Given the description of an element on the screen output the (x, y) to click on. 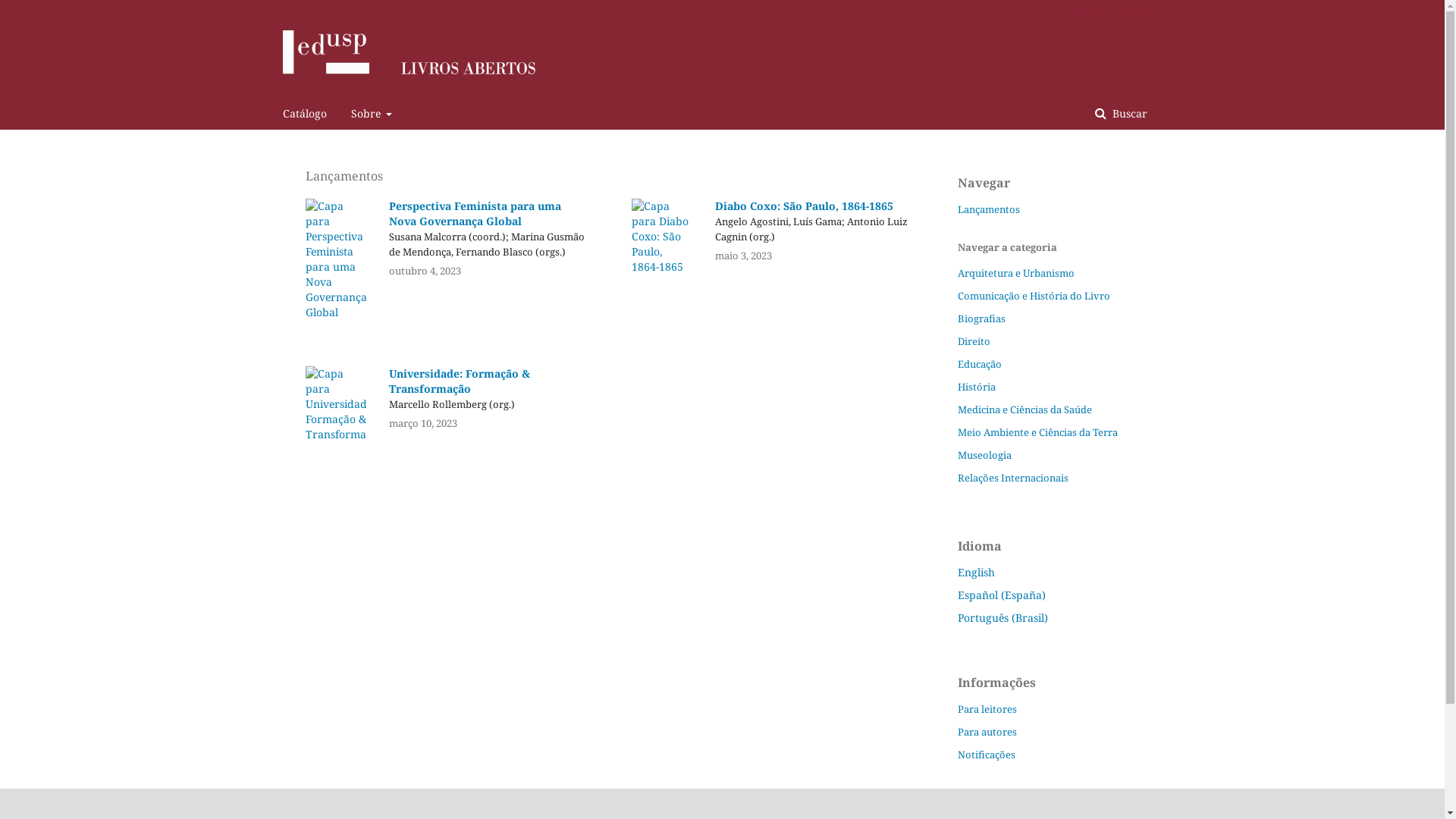
Sobre Element type: text (371, 113)
Cadastro Element type: text (1083, 11)
Para leitores Element type: text (986, 708)
Direito Element type: text (973, 341)
Arquitetura e Urbanismo Element type: text (1015, 272)
English Element type: text (975, 571)
Museologia Element type: text (983, 454)
Biografias Element type: text (980, 318)
Acesso Element type: text (1134, 11)
Para autores Element type: text (986, 731)
Buscar Element type: text (1120, 113)
